Given the description of an element on the screen output the (x, y) to click on. 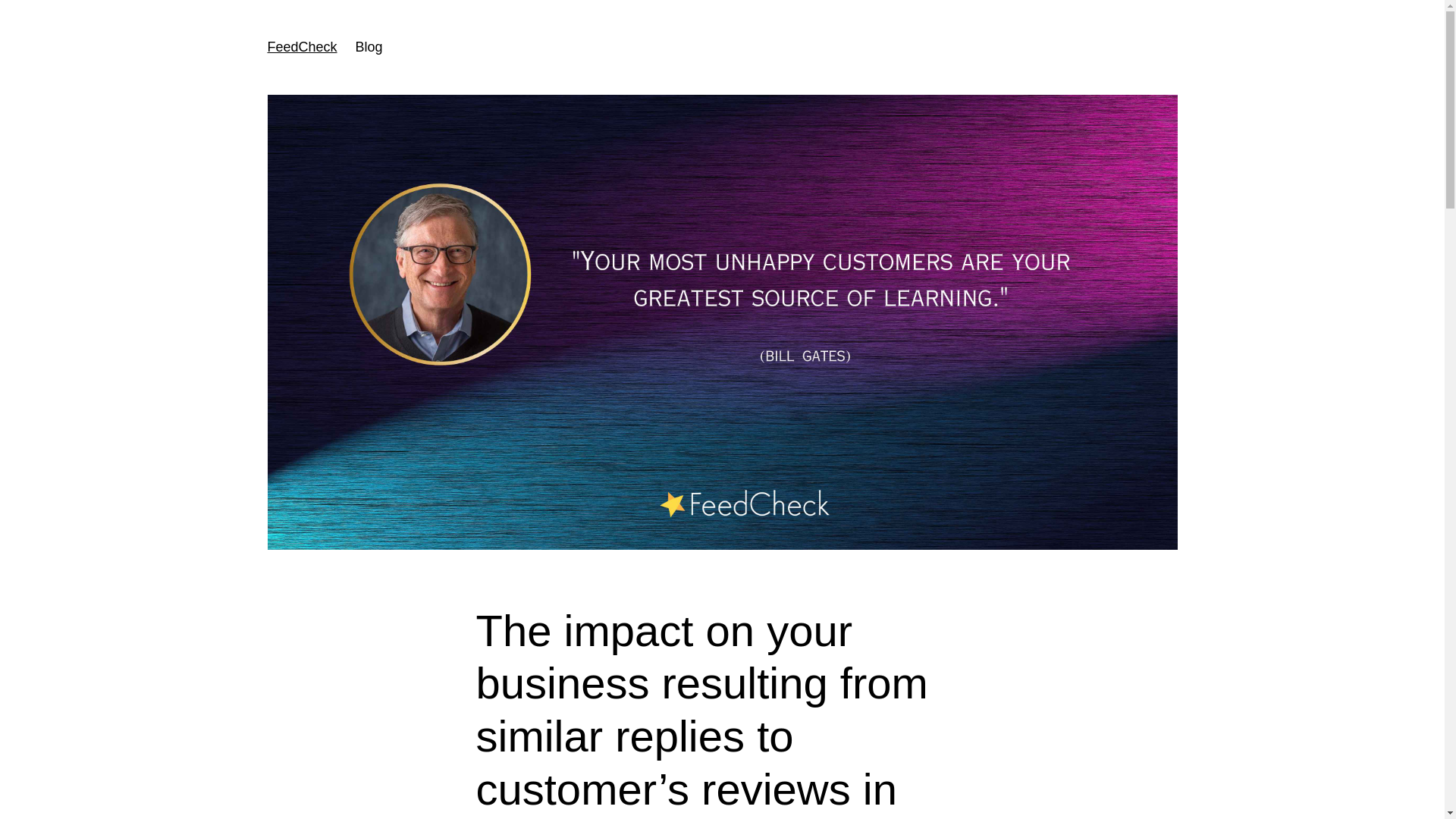
Blog (368, 46)
FeedCheck (301, 46)
